Given the description of an element on the screen output the (x, y) to click on. 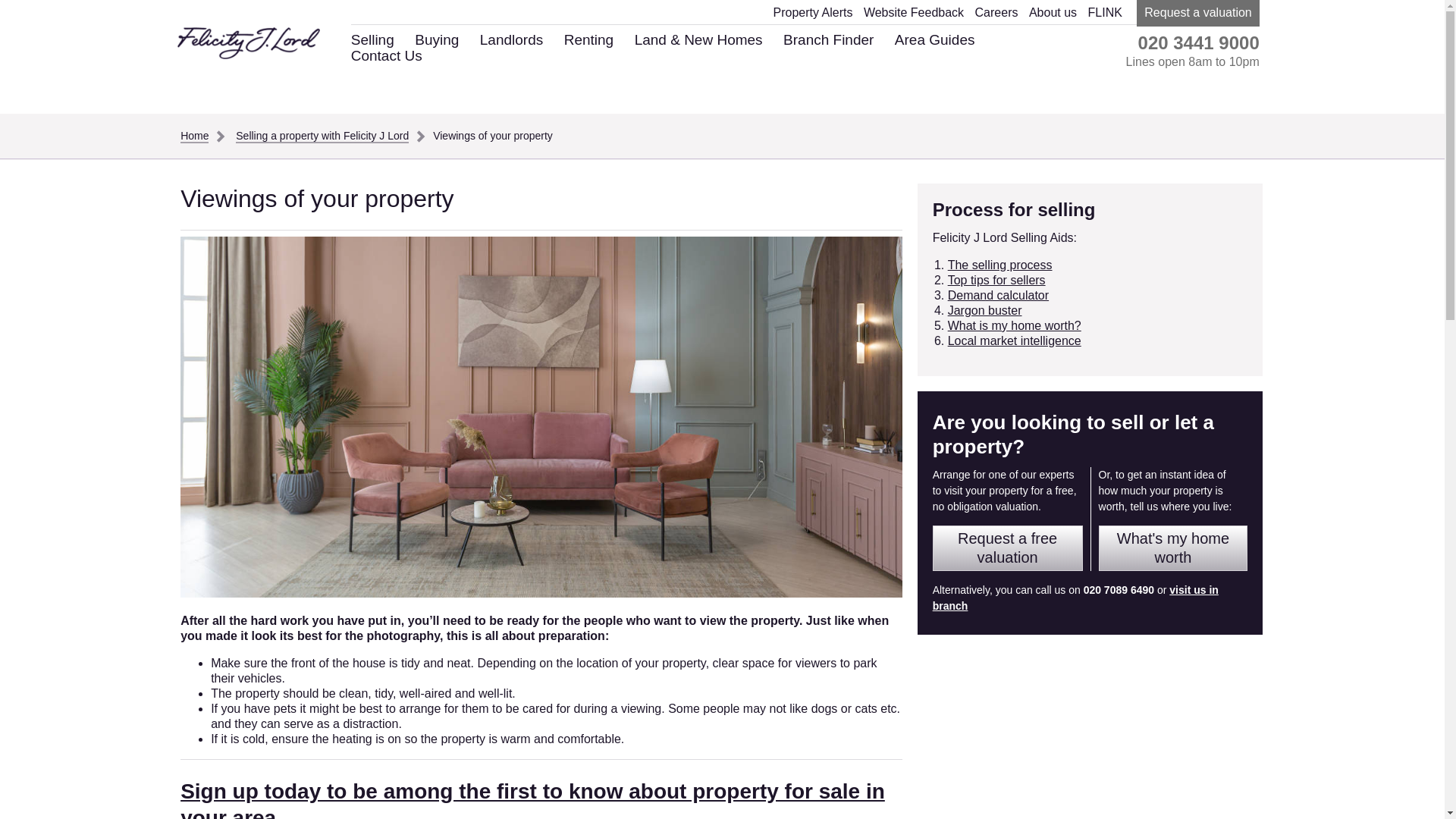
Area Guides (935, 39)
Demand calculator (997, 295)
Top tips for sellers (996, 279)
Demand calculator (997, 295)
Careers (996, 12)
Market Info (1014, 340)
Renting (589, 39)
Felicity J. Lord Property Alerts (532, 799)
Buying (436, 39)
Request a free valuation (1008, 547)
